Given the description of an element on the screen output the (x, y) to click on. 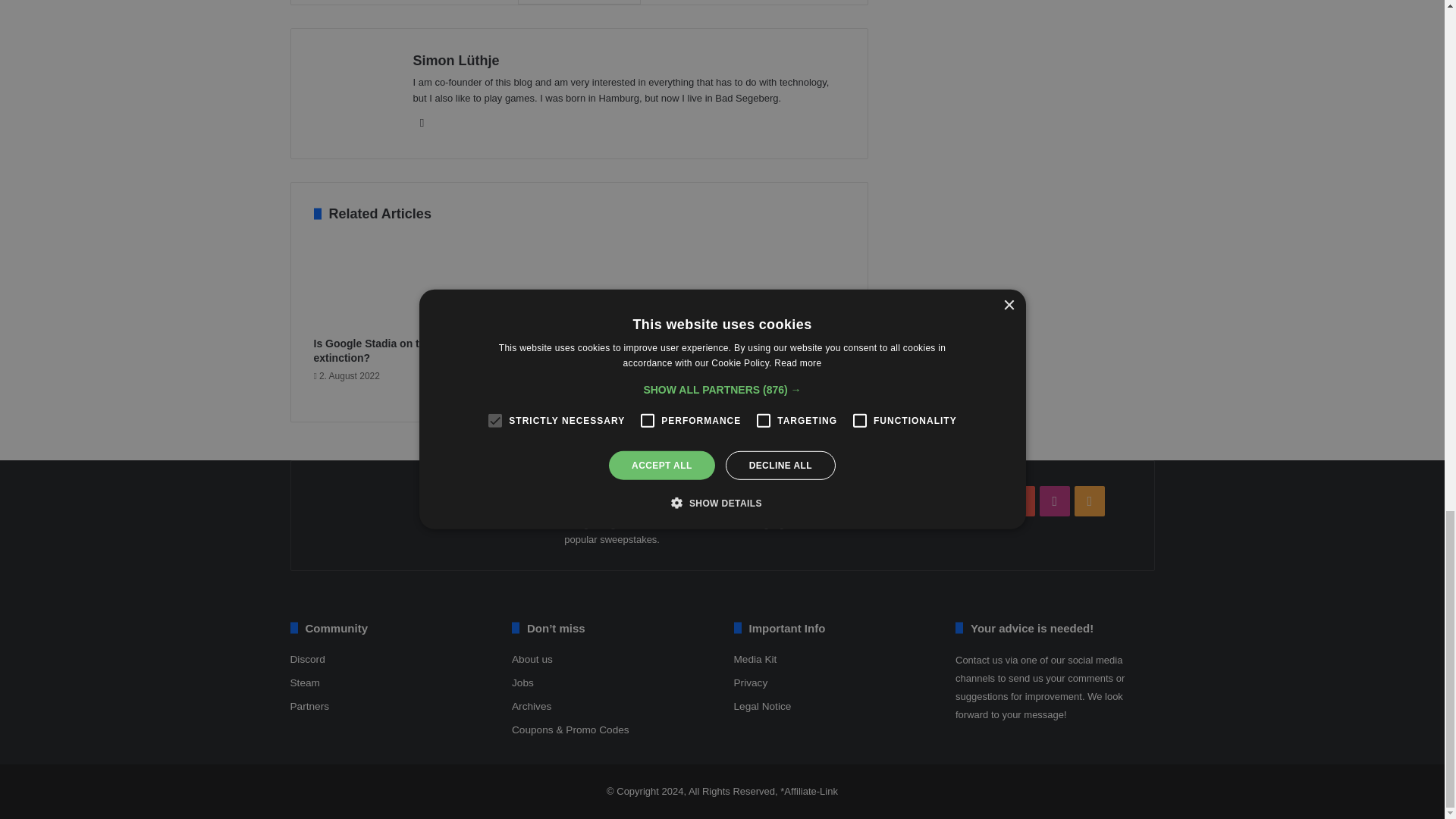
Google News (578, 2)
LinkedIn (421, 122)
